Given the description of an element on the screen output the (x, y) to click on. 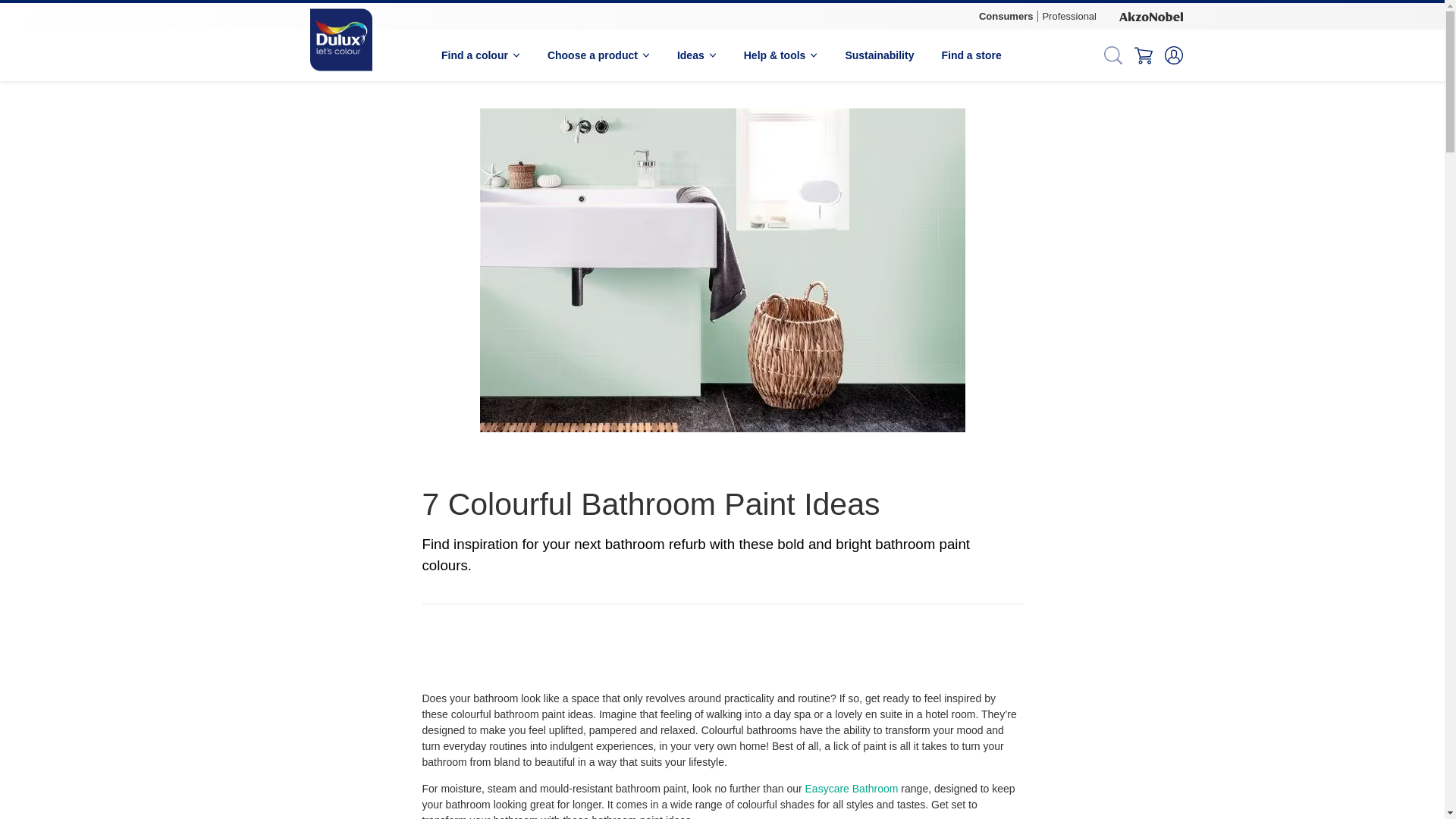
Professional (1068, 16)
Choose a product (598, 55)
Consumers (1006, 16)
Find a colour (480, 55)
Find a store (970, 55)
Sustainability (879, 55)
